Given the description of an element on the screen output the (x, y) to click on. 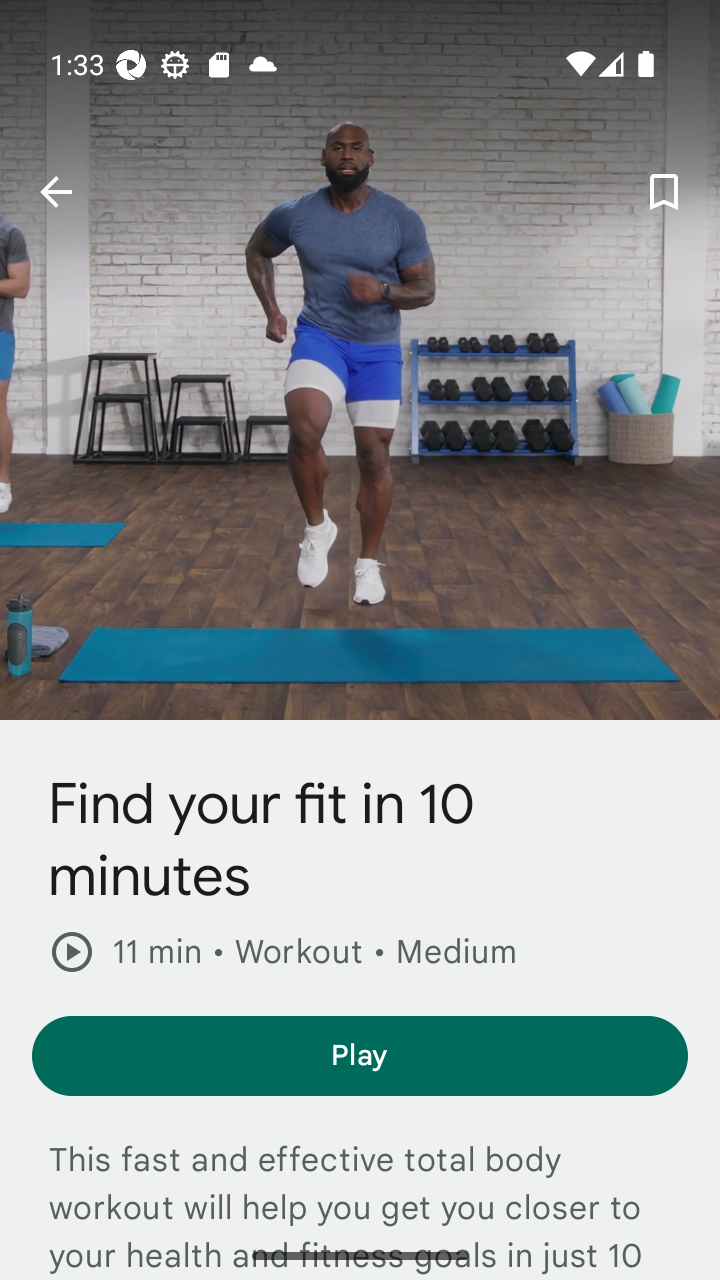
Go back (55, 191)
Bookmark (664, 191)
Play (359, 1055)
